Given the description of an element on the screen output the (x, y) to click on. 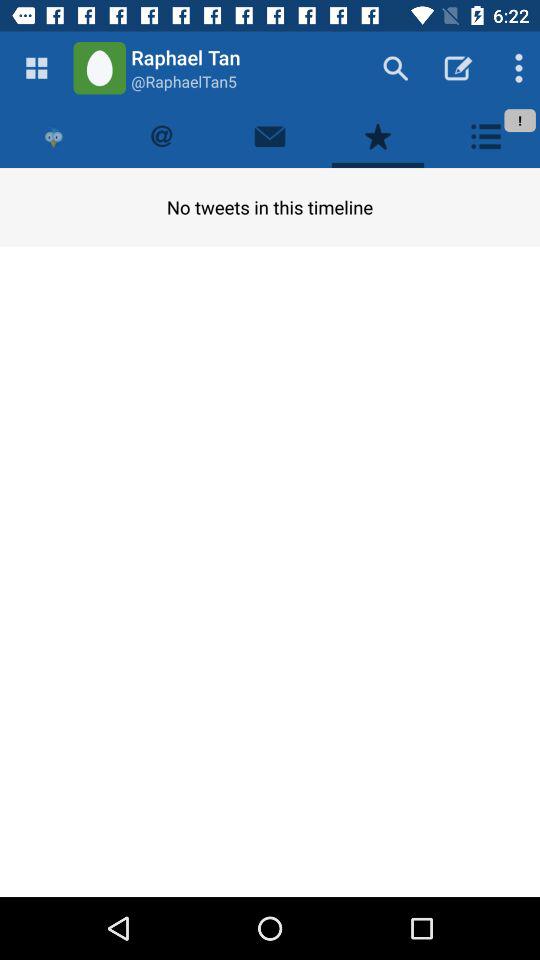
open menu (36, 68)
